Given the description of an element on the screen output the (x, y) to click on. 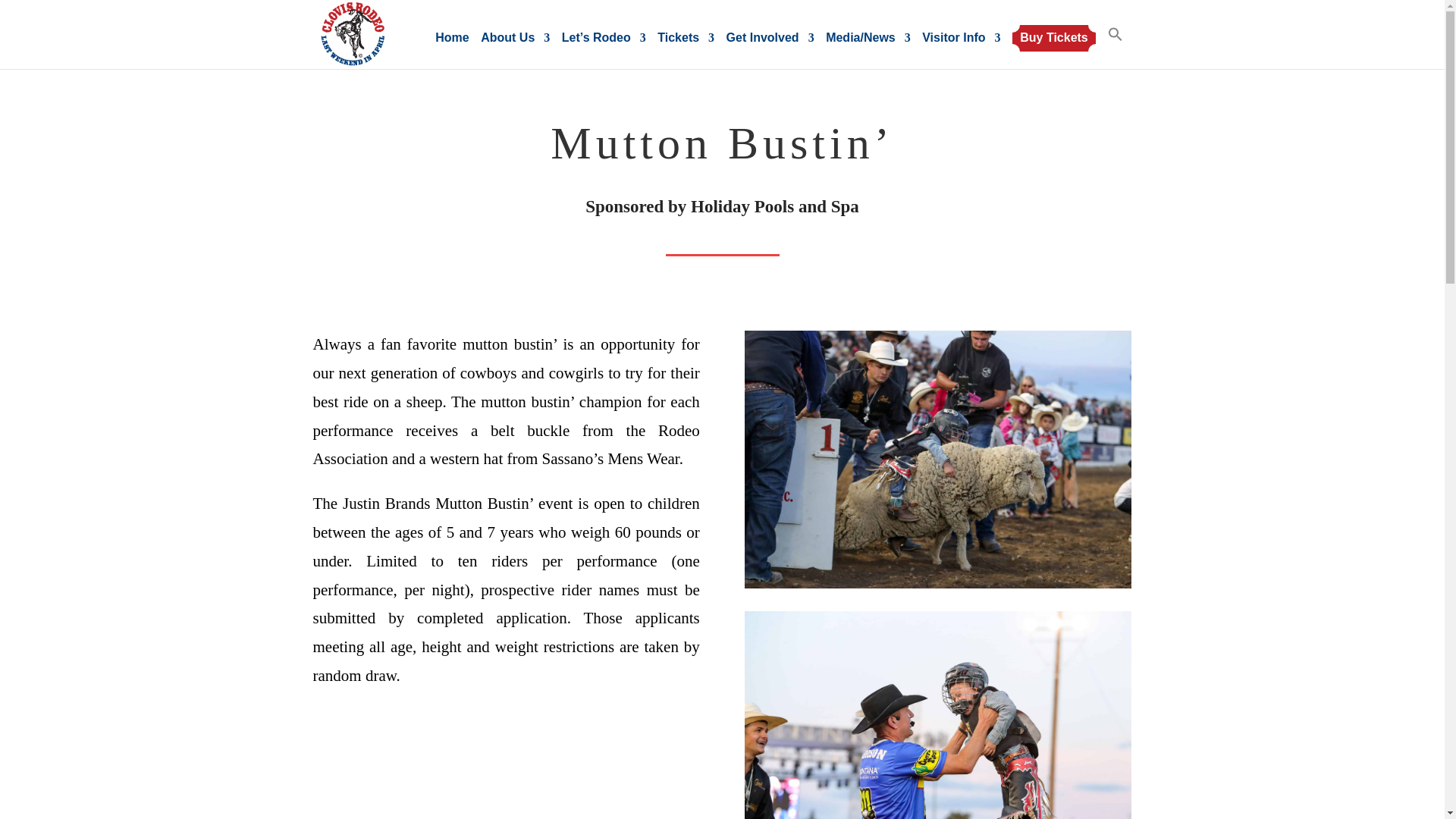
About Us (515, 49)
Home (451, 40)
